Given the description of an element on the screen output the (x, y) to click on. 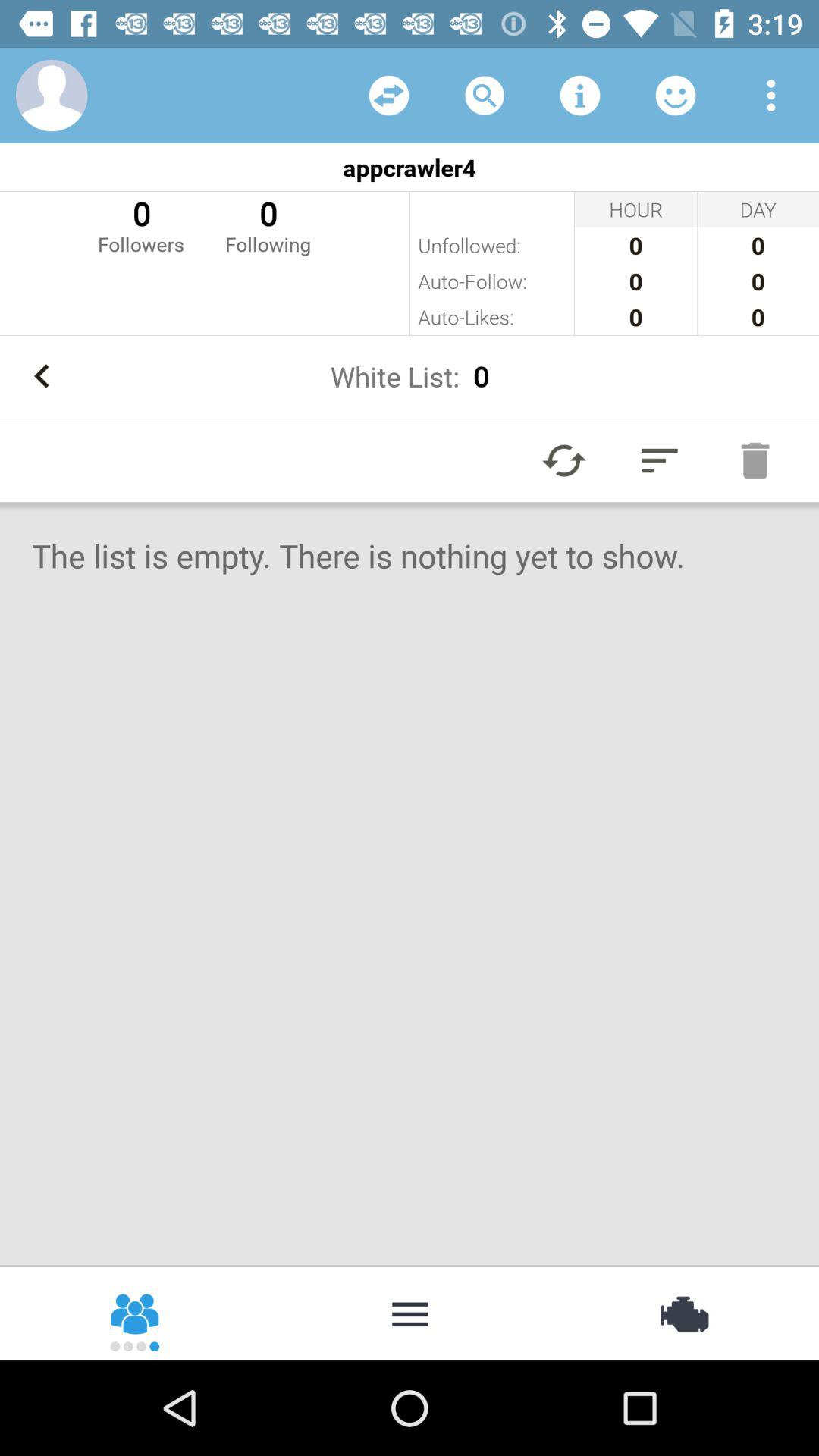
turn on item above the appcrawler4 item (579, 95)
